Given the description of an element on the screen output the (x, y) to click on. 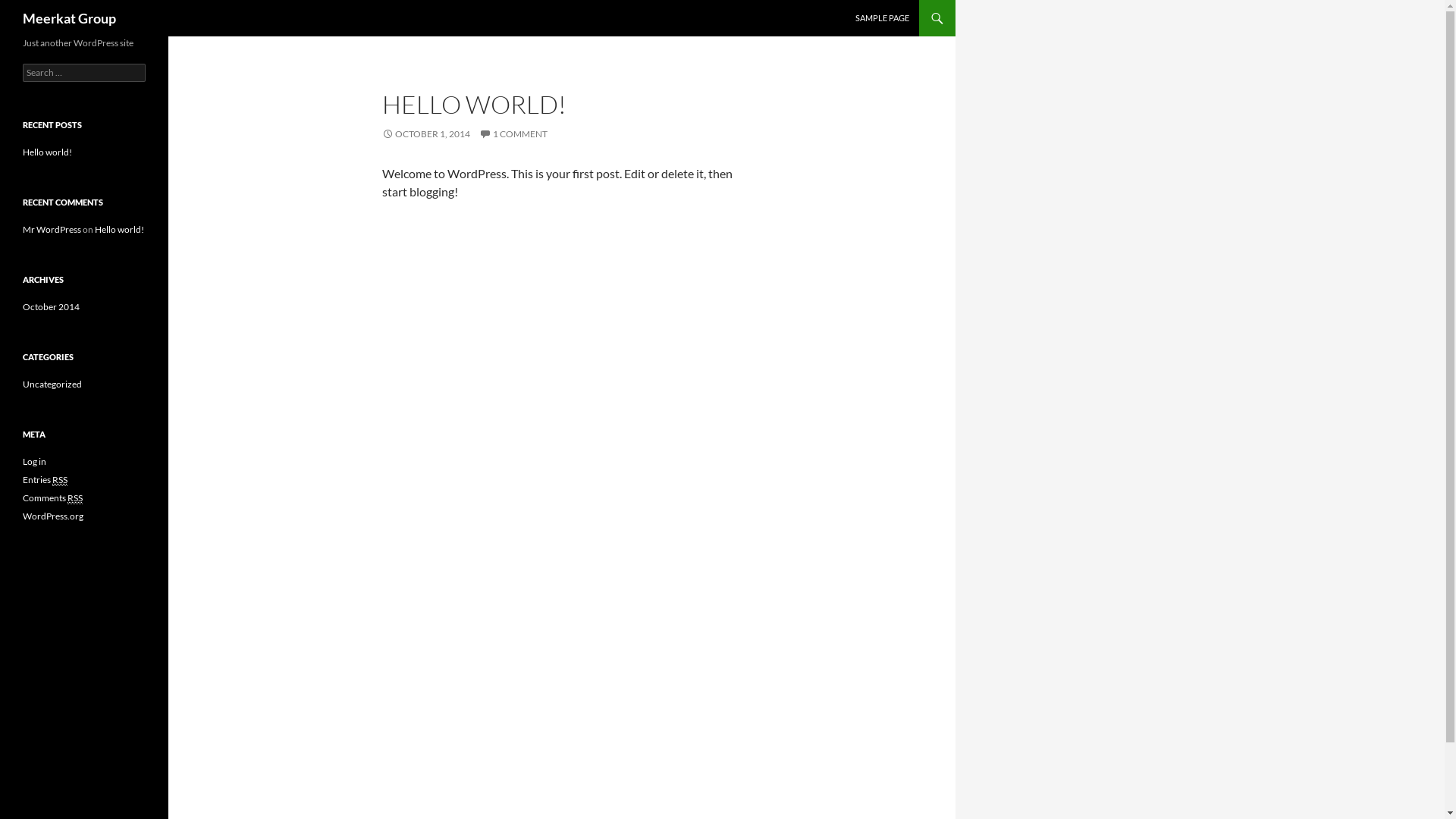
HELLO WORLD! Element type: text (474, 103)
Search Element type: text (29, 9)
OCTOBER 1, 2014 Element type: text (426, 133)
SAMPLE PAGE Element type: text (882, 18)
Mr WordPress Element type: text (51, 229)
SKIP TO CONTENT Element type: text (855, 0)
Hello world! Element type: text (119, 229)
Log in Element type: text (34, 461)
Search Element type: text (3, 0)
Hello world! Element type: text (47, 151)
Comments RSS Element type: text (52, 498)
Entries RSS Element type: text (44, 479)
October 2014 Element type: text (50, 306)
Meerkat Group Element type: text (69, 18)
1 COMMENT Element type: text (513, 133)
Uncategorized Element type: text (51, 383)
WordPress.org Element type: text (52, 515)
